Given the description of an element on the screen output the (x, y) to click on. 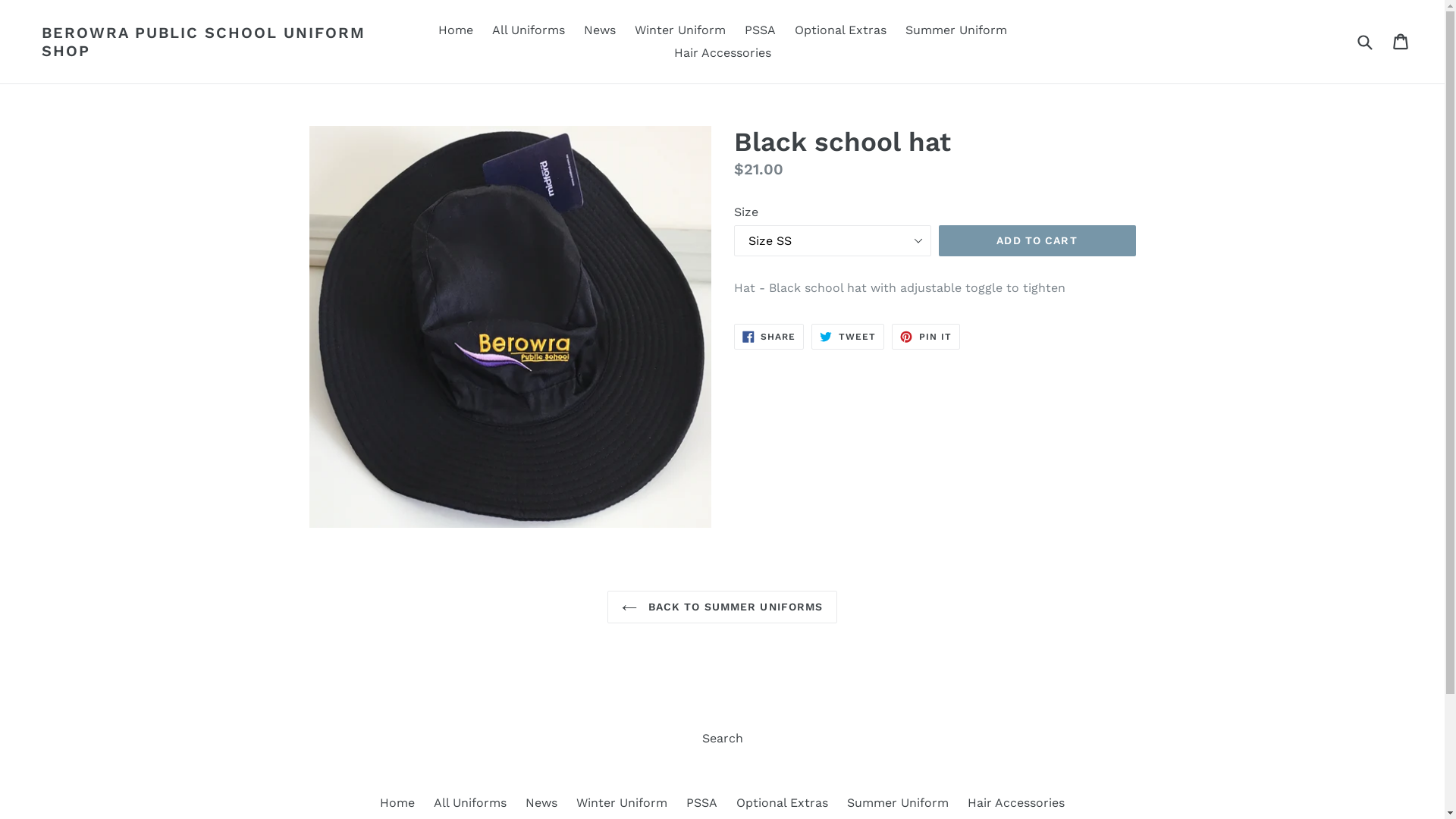
News Element type: text (599, 29)
ADD TO CART Element type: text (1036, 241)
Winter Uniform Element type: text (679, 29)
BACK TO SUMMER UNIFORMS Element type: text (722, 605)
News Element type: text (541, 802)
All Uniforms Element type: text (527, 29)
TWEET
TWEET ON TWITTER Element type: text (847, 336)
Cart
Cart Element type: text (1401, 41)
Hair Accessories Element type: text (721, 52)
SHARE
SHARE ON FACEBOOK Element type: text (769, 336)
Hair Accessories Element type: text (1015, 802)
PIN IT
PIN ON PINTEREST Element type: text (925, 336)
Home Element type: text (396, 802)
Search Element type: text (722, 738)
Submit Element type: text (1363, 40)
PSSA Element type: text (701, 802)
All Uniforms Element type: text (469, 802)
Summer Uniform Element type: text (955, 29)
Optional Extras Element type: text (840, 29)
Optional Extras Element type: text (782, 802)
Winter Uniform Element type: text (621, 802)
PSSA Element type: text (760, 29)
Summer Uniform Element type: text (897, 802)
BEROWRA PUBLIC SCHOOL UNIFORM SHOP Element type: text (211, 41)
Home Element type: text (455, 29)
